Given the description of an element on the screen output the (x, y) to click on. 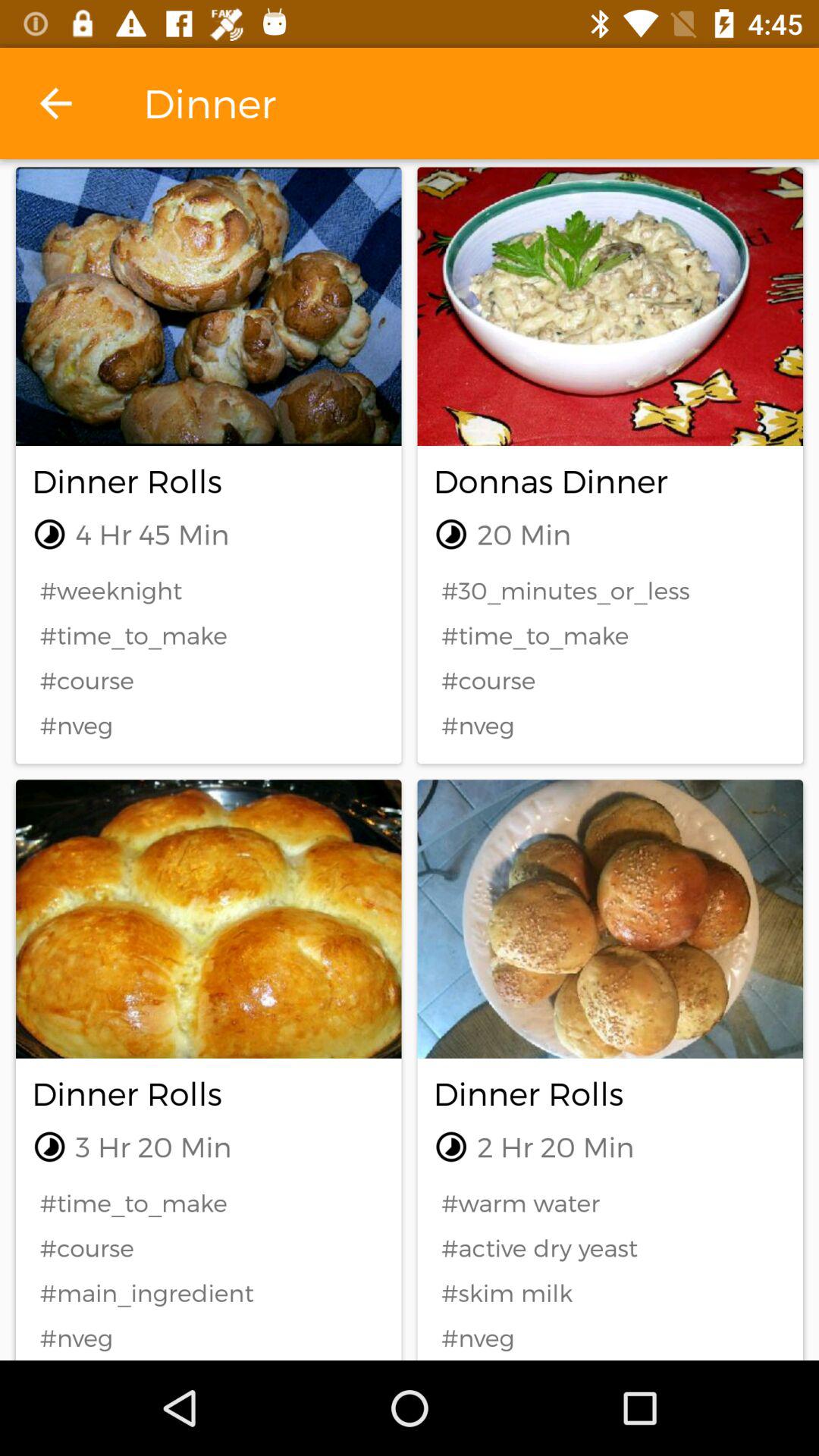
scroll until the #weeknight item (208, 590)
